Given the description of an element on the screen output the (x, y) to click on. 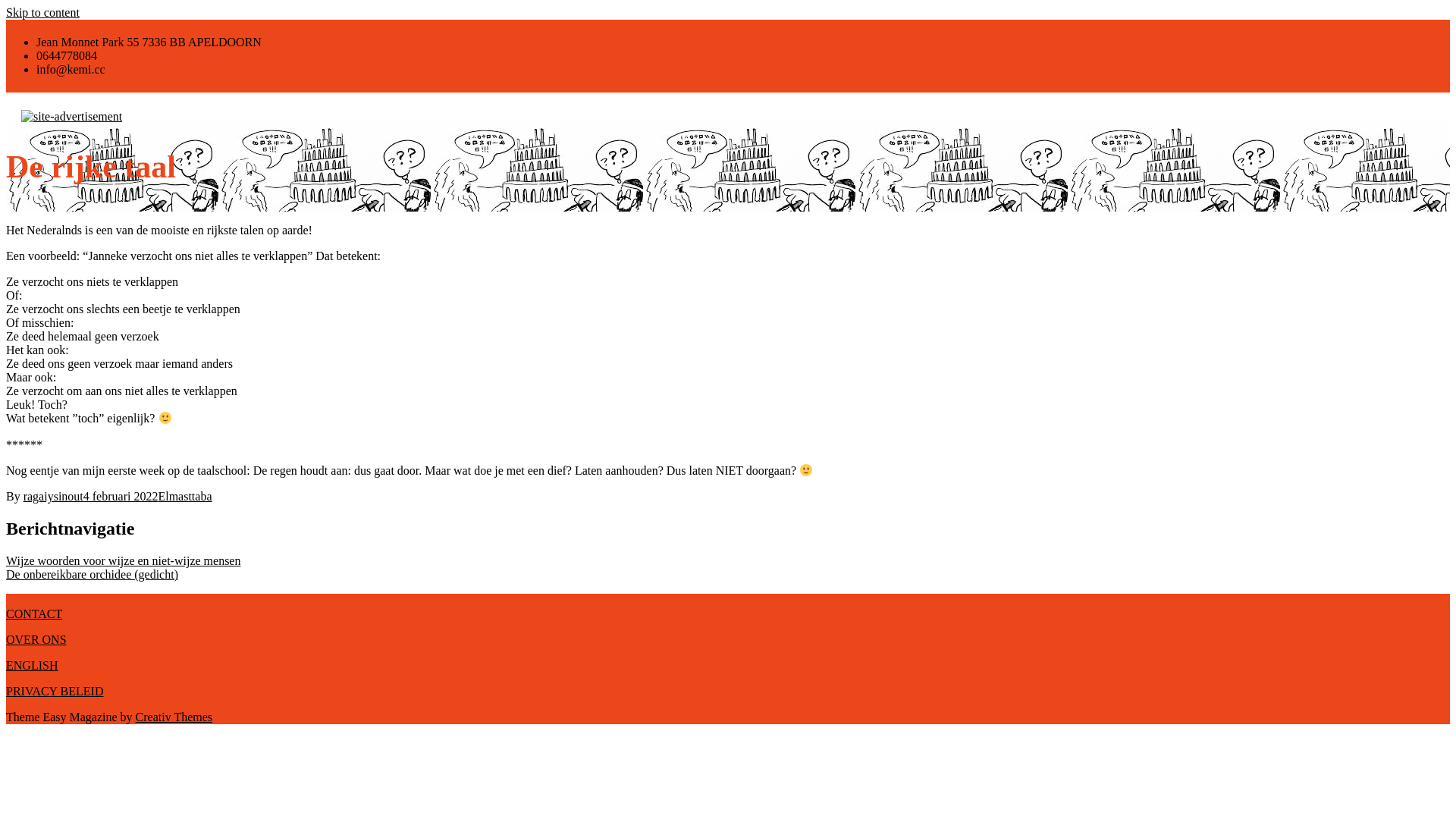
Elmasttaba Element type: text (184, 495)
0644778084 Element type: text (66, 55)
Skip to content Element type: text (42, 12)
CONTACT Element type: text (34, 613)
info@kemi.cc Element type: text (70, 68)
Creativ Themes Element type: text (173, 716)
OVER ONS Element type: text (36, 639)
De onbereikbare orchidee (gedicht) Element type: text (92, 573)
Wijze woorden voor wijze en niet-wijze mensen Element type: text (123, 560)
ragaiysinout Element type: text (53, 495)
PRIVACY BELEID Element type: text (54, 690)
4 februari 2022 Element type: text (120, 495)
ENGLISH Element type: text (31, 664)
